Given the description of an element on the screen output the (x, y) to click on. 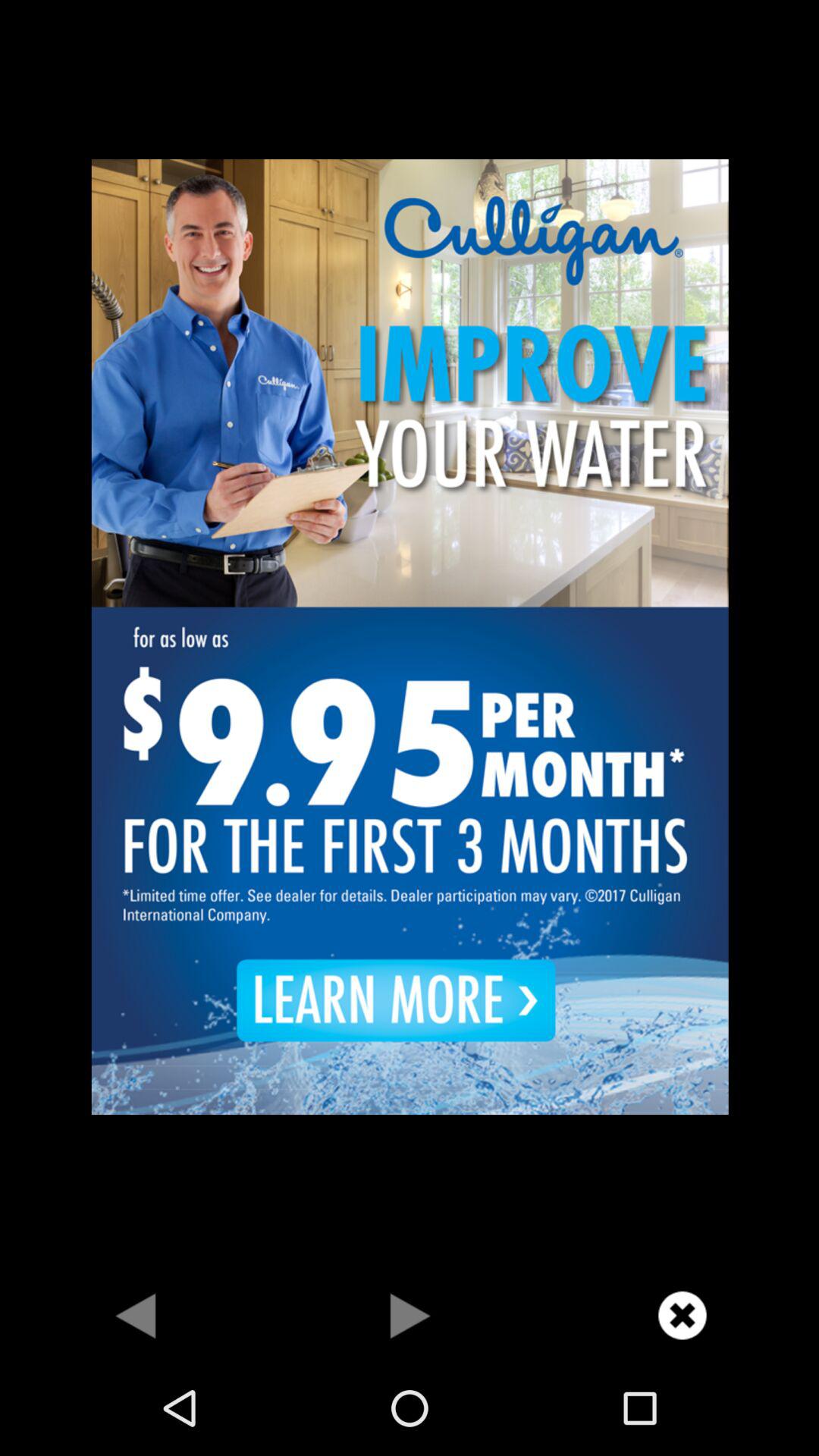
goto next (136, 1315)
